Given the description of an element on the screen output the (x, y) to click on. 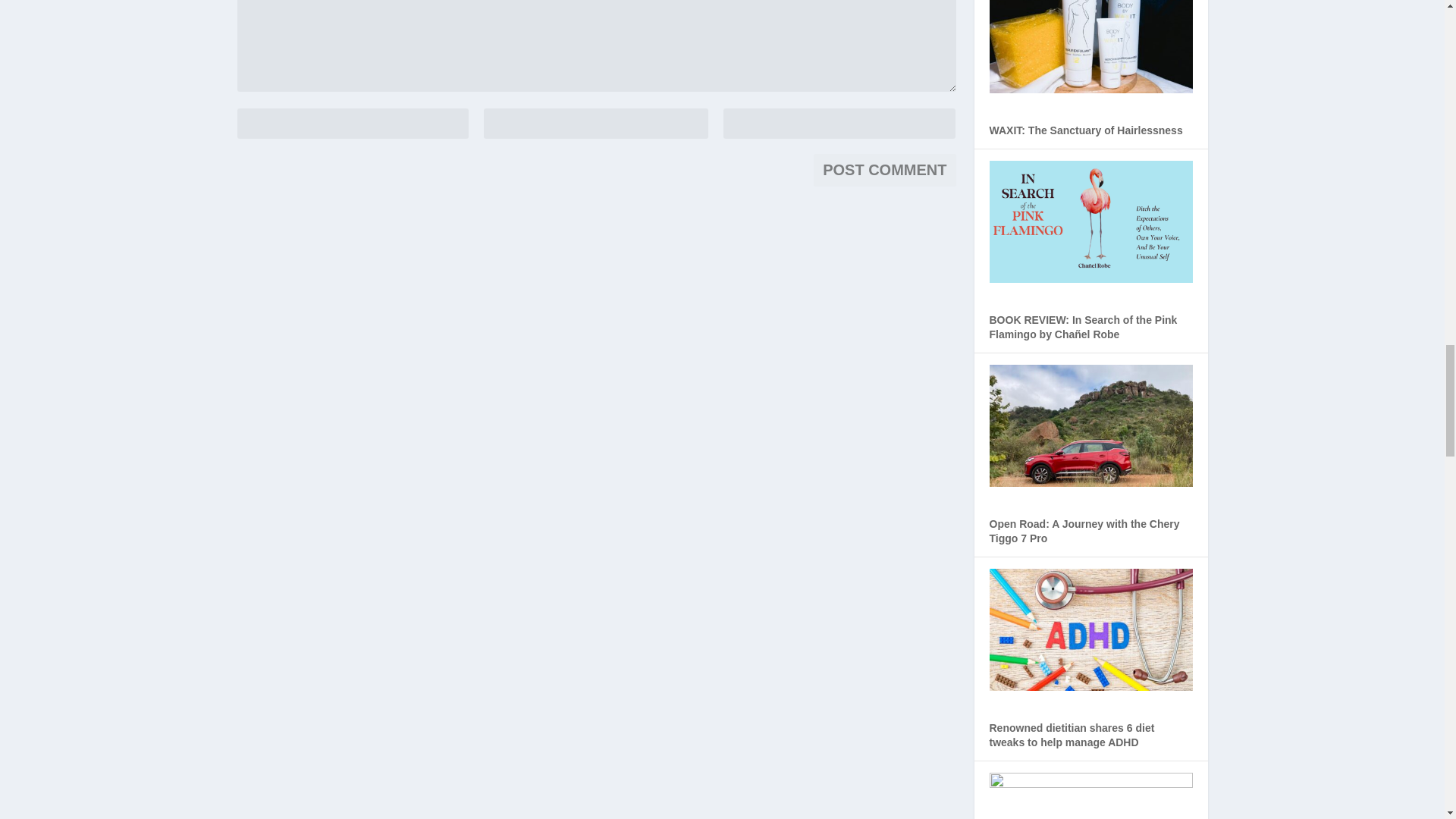
Post Comment (884, 169)
